Given the description of an element on the screen output the (x, y) to click on. 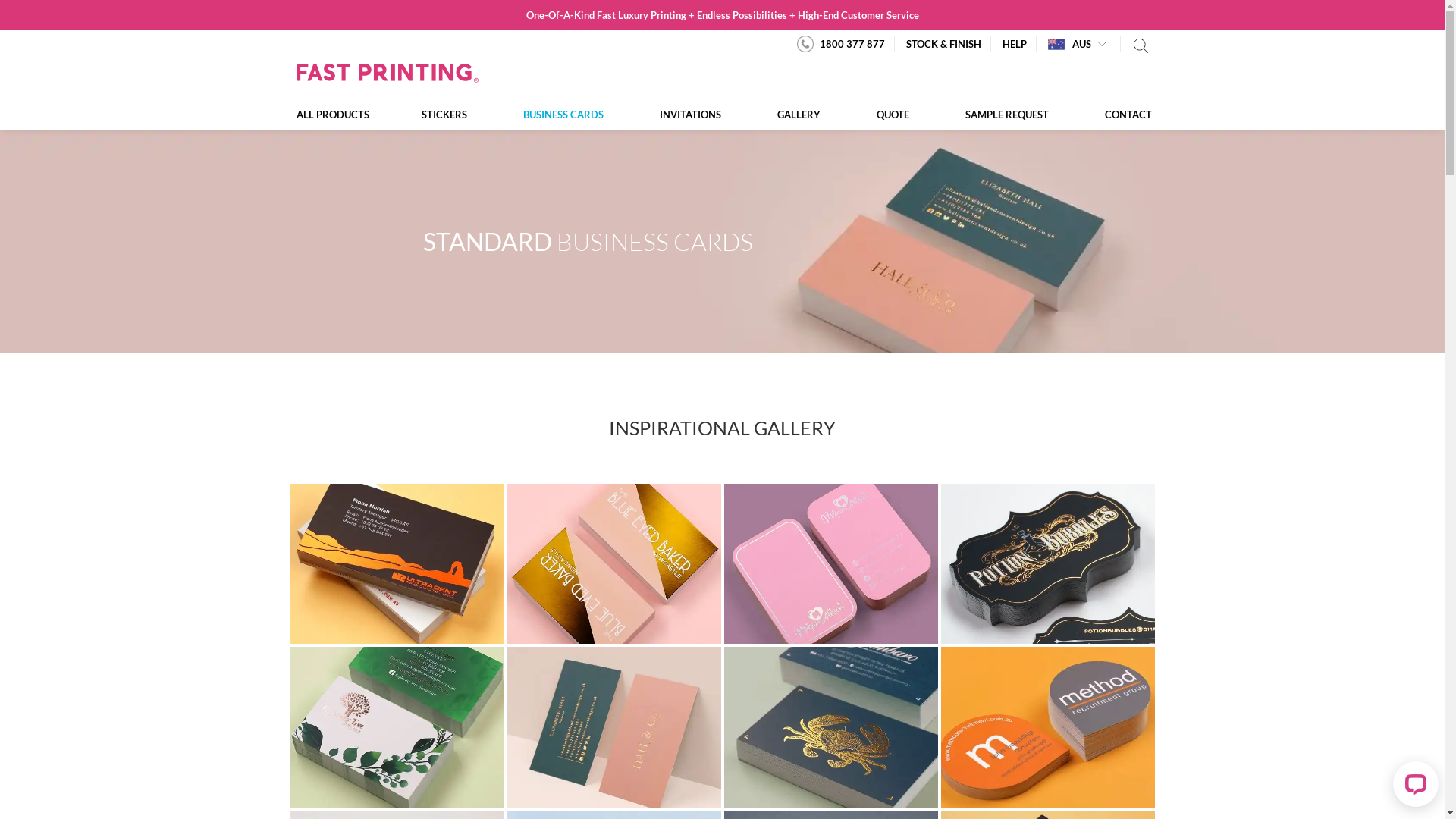
CONTACT Element type: text (1113, 114)
ALL PRODUCTS Element type: text (342, 114)
INVITATIONS Element type: text (689, 114)
STOCK & FINISH Element type: text (942, 43)
SAMPLE REQUEST Element type: text (1006, 114)
QUOTE Element type: text (891, 114)
BUSINESS CARDS Element type: text (562, 114)
HELP Element type: text (1014, 43)
1800 377 877 Element type: text (840, 43)
STICKERS Element type: text (443, 114)
GALLERY Element type: text (798, 114)
AUS Element type: text (1069, 43)
